Given the description of an element on the screen output the (x, y) to click on. 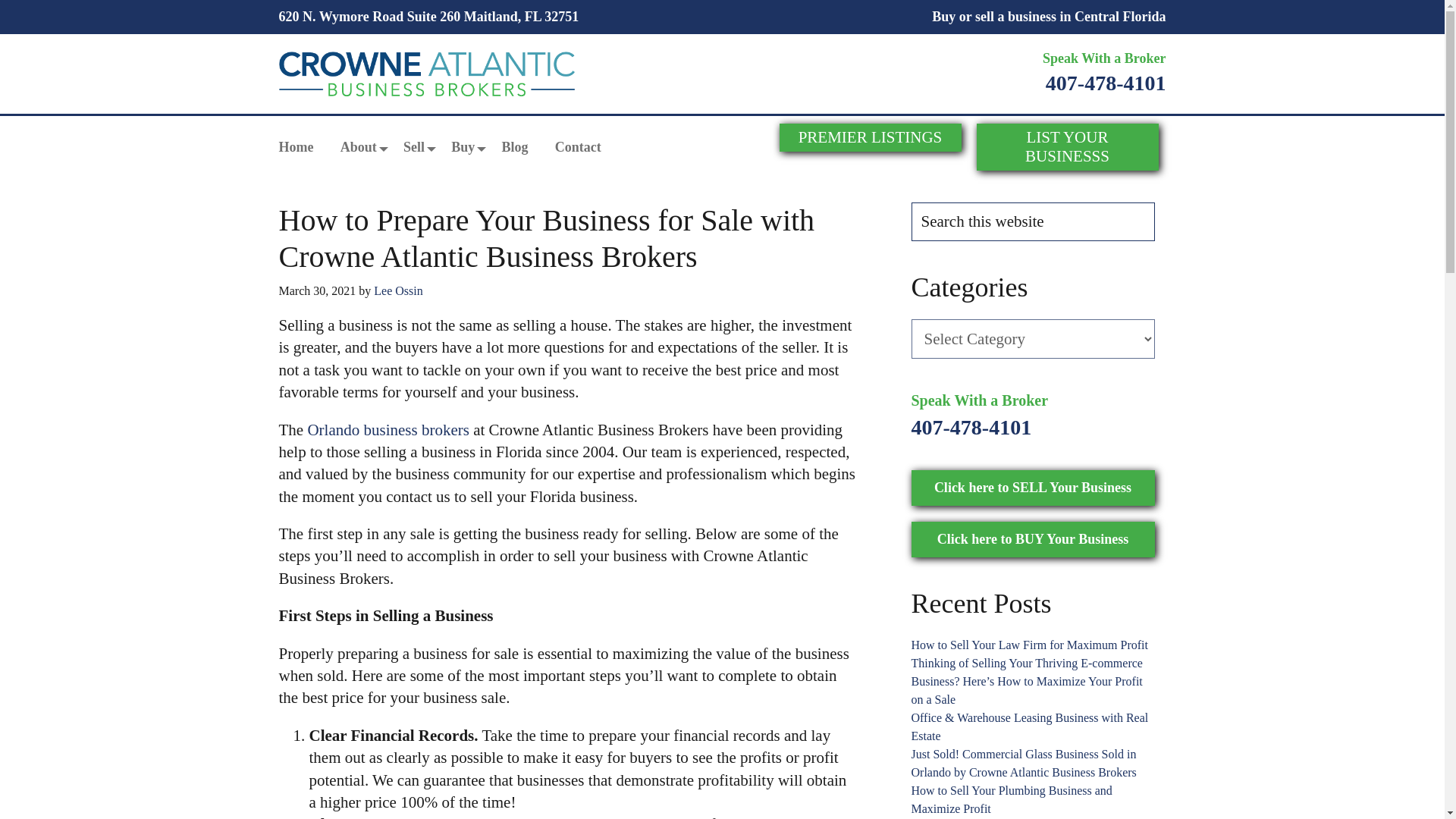
Click here to SELL Your Business (1032, 488)
Submenu (366, 155)
407-478-4101 (971, 426)
Search (1163, 211)
Home (296, 146)
LIST YOUR BUSINESSS (1067, 146)
Orlando business brokers (387, 429)
Lee Ossin (398, 290)
How to Sell Your Plumbing Business and Maximize Profit (1011, 798)
PREMIER LISTINGS (869, 137)
407-478-4101 (1105, 83)
Click here to BUY Your Business (1032, 539)
Submenu (414, 155)
620 N. Wymore Road Suite 260 Maitland, FL 32751 (429, 16)
Contact (577, 146)
